Given the description of an element on the screen output the (x, y) to click on. 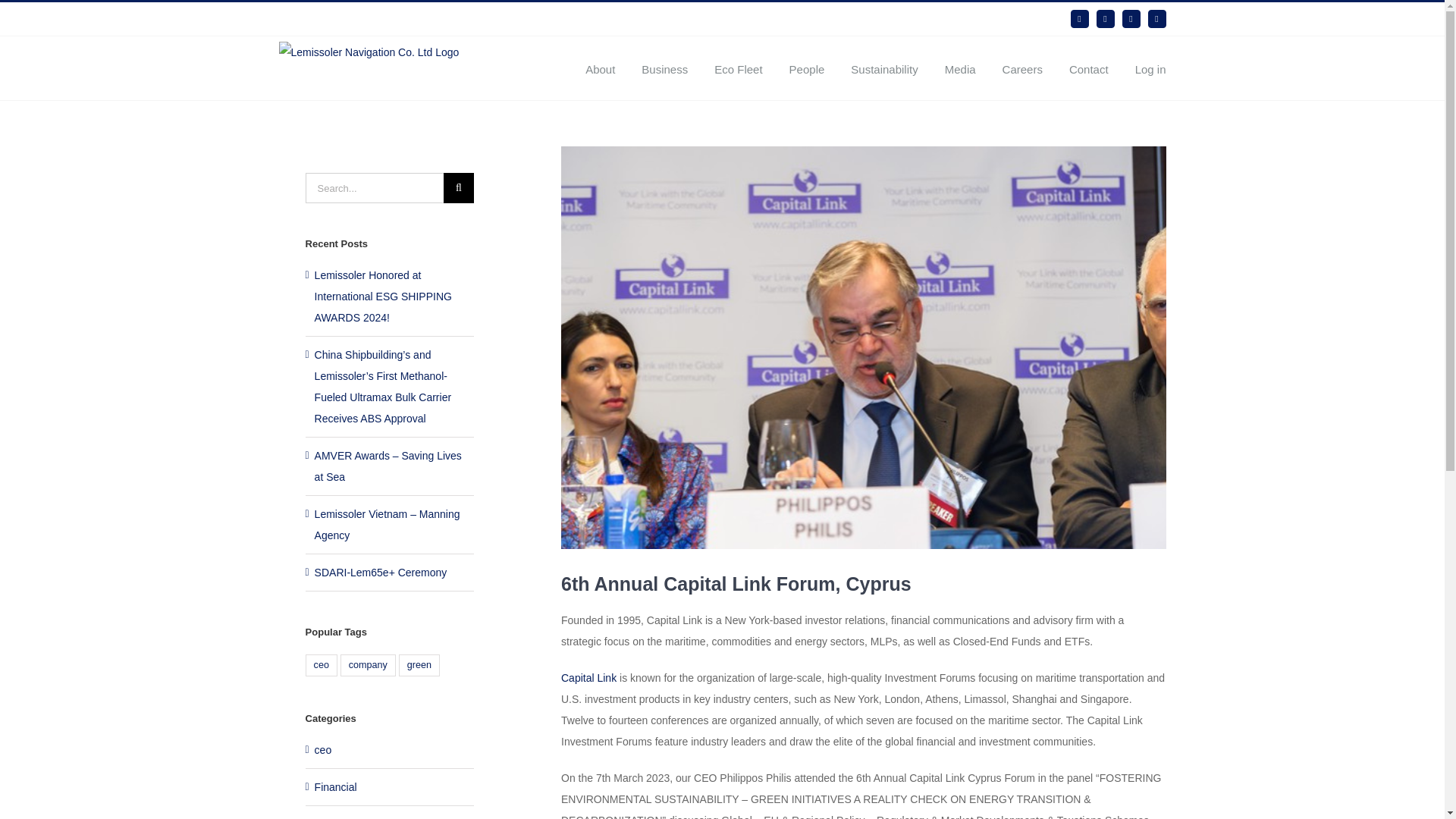
Facebook (1105, 18)
Sustainability (883, 67)
X (1131, 18)
LinkedIn (1079, 18)
Instagram (1157, 18)
X (1131, 18)
Instagram (1157, 18)
Facebook (1105, 18)
LinkedIn (1079, 18)
